Given the description of an element on the screen output the (x, y) to click on. 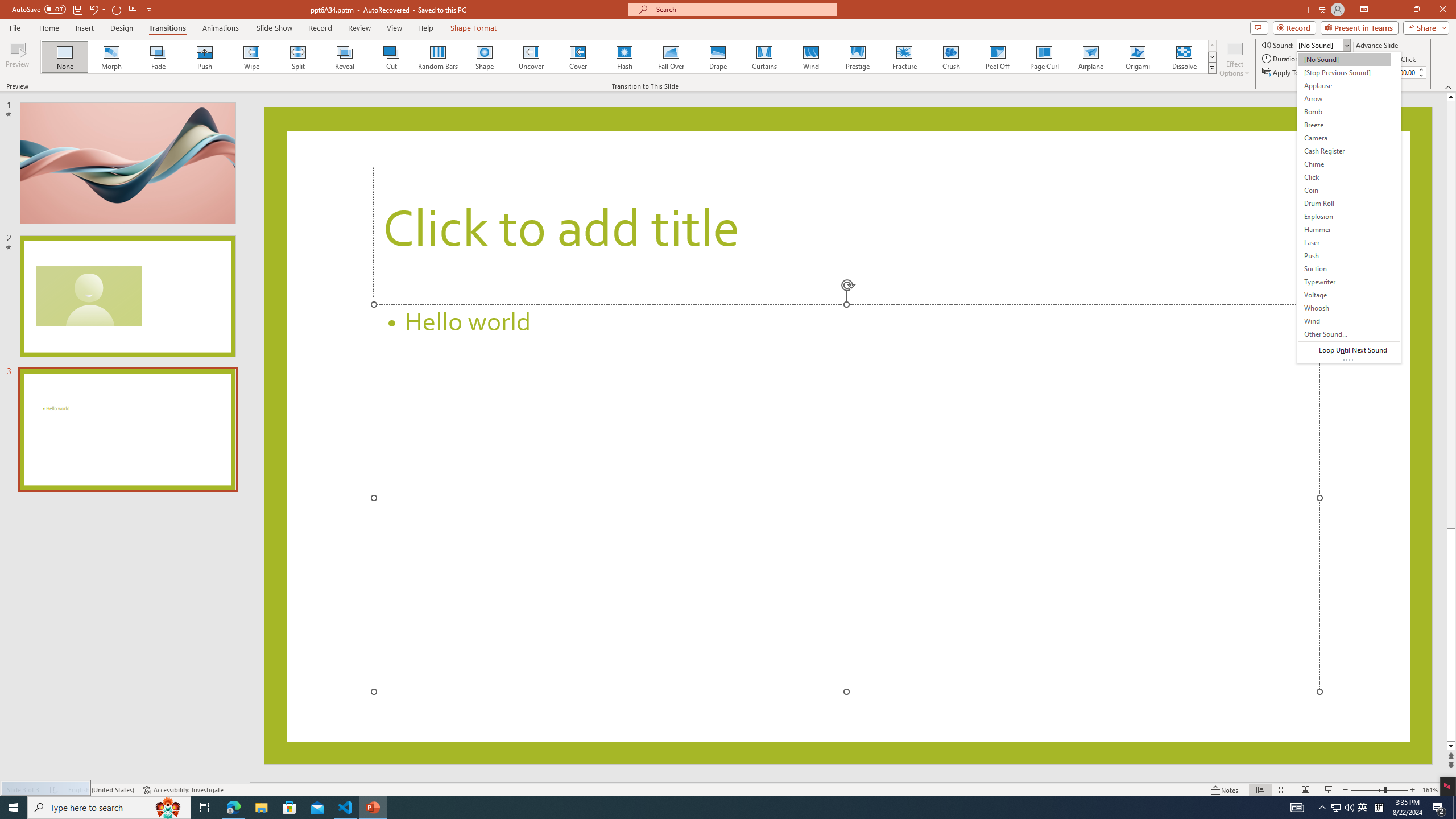
Cover (577, 56)
Reveal (344, 56)
Morph (111, 56)
Airplane (1090, 56)
Page Curl (1043, 56)
Flash (624, 56)
Fall Over (670, 56)
